Given the description of an element on the screen output the (x, y) to click on. 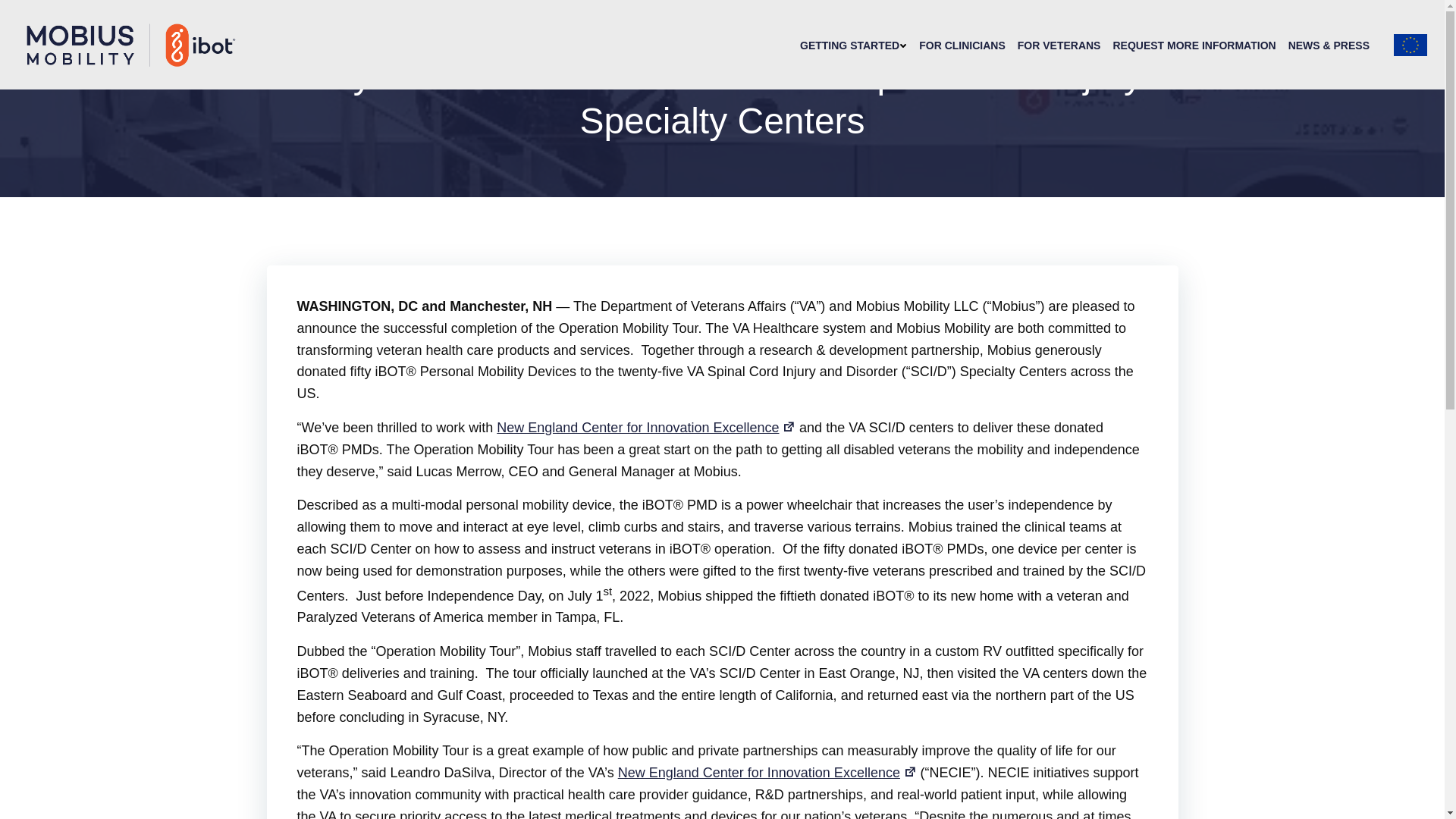
GETTING STARTED (853, 45)
New England Center for Innovation Excellence (645, 427)
New England Center for Innovation Excellence (767, 772)
FOR CLINICIANS (962, 45)
FOR VETERANS (1058, 45)
REQUEST MORE INFORMATION (1193, 45)
